Given the description of an element on the screen output the (x, y) to click on. 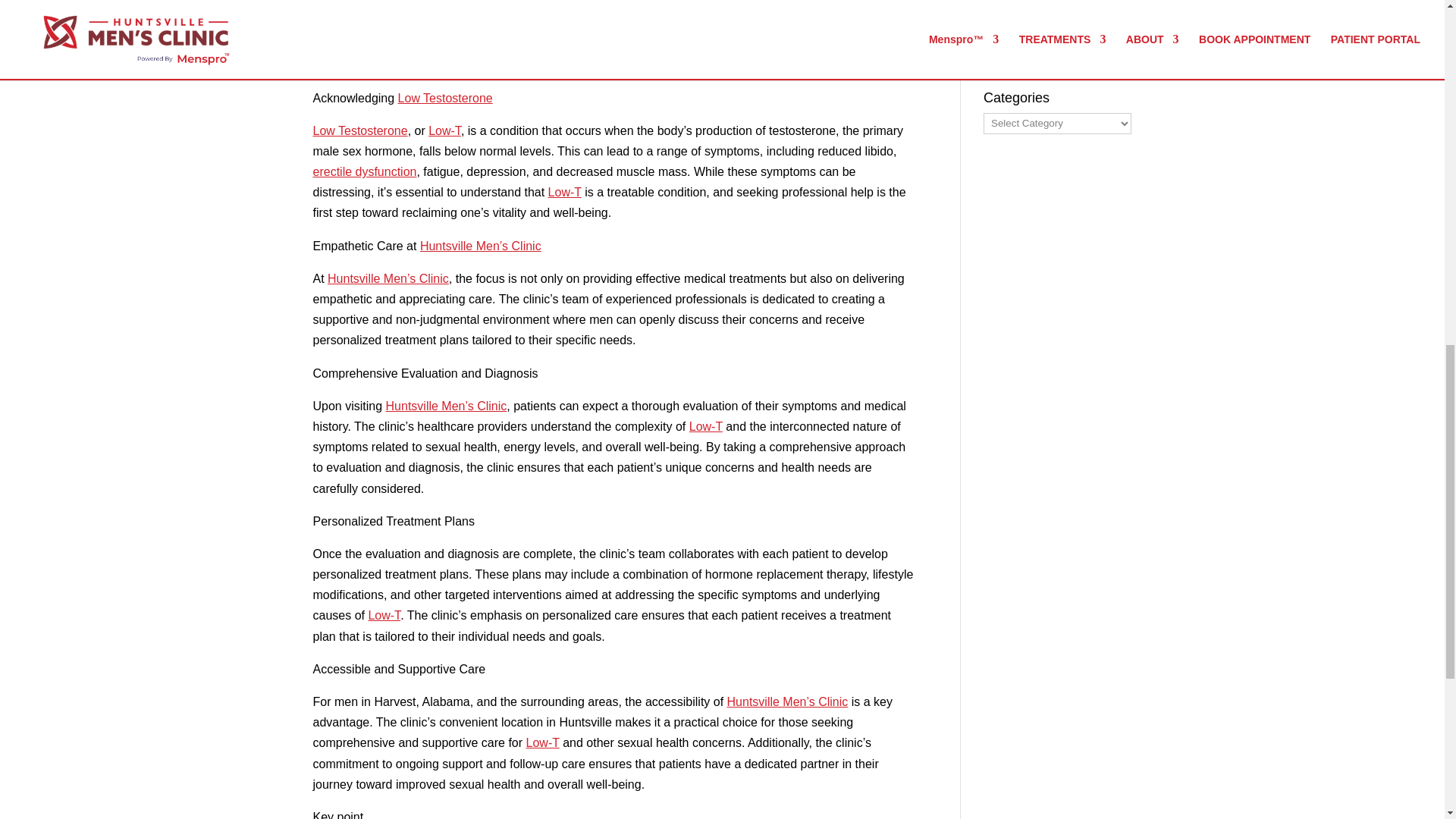
LOW-T LINK (546, 4)
Low Testosterone (475, 4)
LOW-T LINK (444, 130)
LOW-T LINK (475, 4)
ED Link (364, 171)
LOW-T LINK (360, 130)
LOW-T LINK (445, 97)
LOW-T LINK (432, 23)
